Given the description of an element on the screen output the (x, y) to click on. 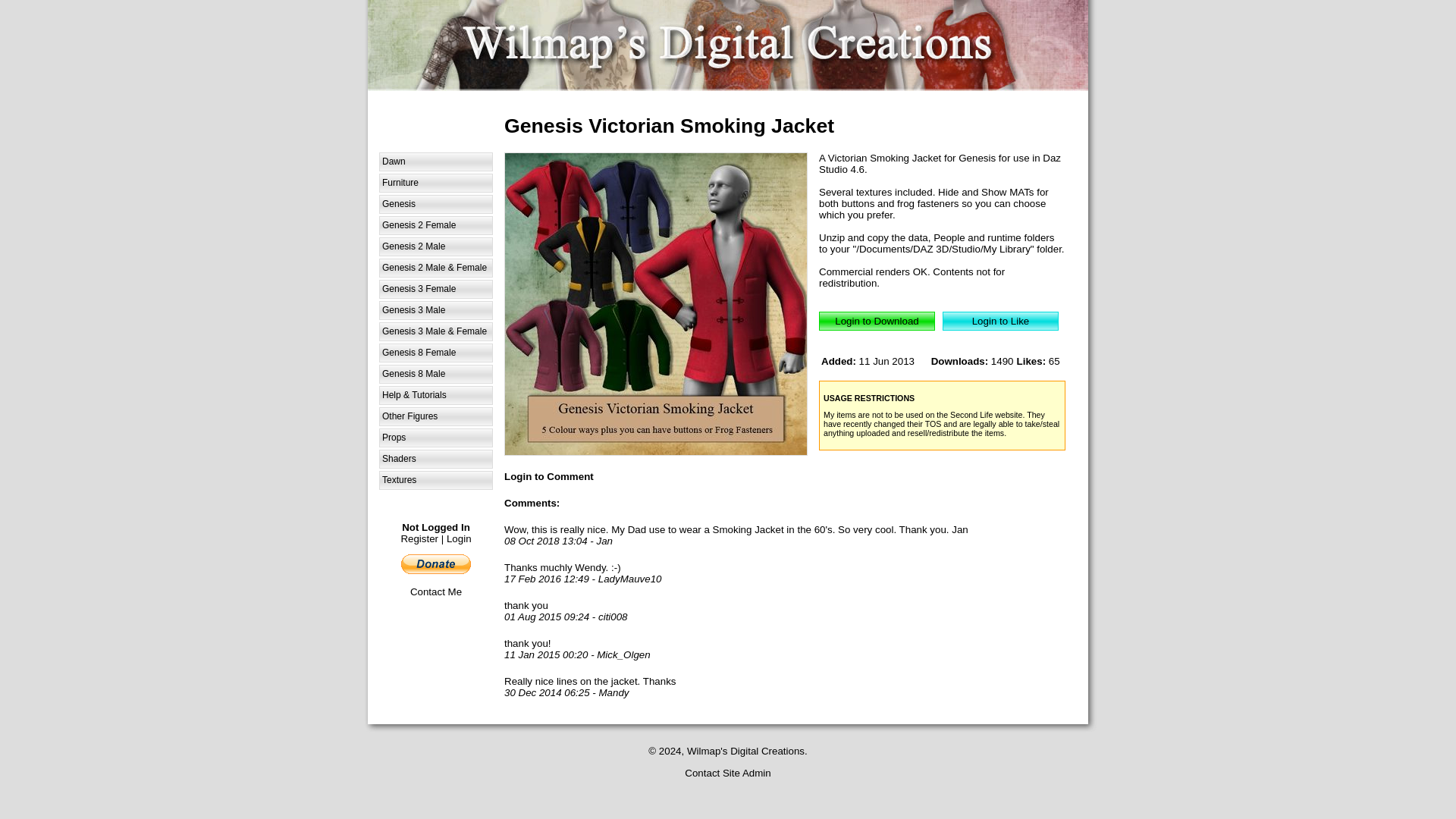
Genesis 8 Male (435, 374)
Genesis (435, 203)
Props (435, 437)
Wilmap's Digital Creations (727, 45)
Genesis 3 Male (435, 310)
Genesis Victorian Smoking Jacket (655, 303)
Genesis 2 Female (435, 225)
Other Figures (435, 416)
Furniture (435, 182)
Register (419, 538)
Genesis 2 Male (435, 246)
Dawn (435, 161)
Login to Comment (548, 476)
Contact Me (435, 591)
Genesis 3 Female (435, 289)
